Given the description of an element on the screen output the (x, y) to click on. 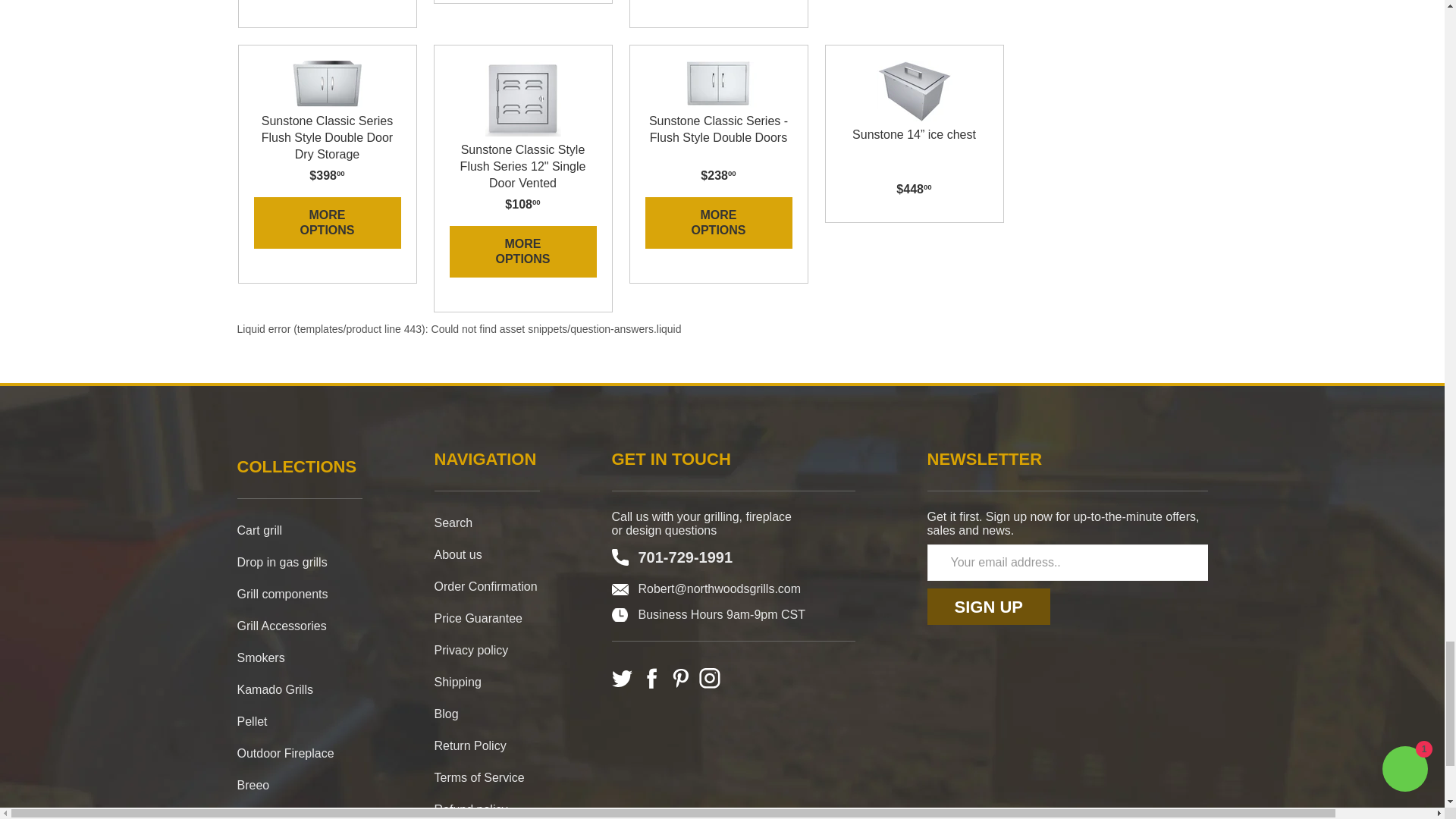
Sign Up (987, 606)
